Given the description of an element on the screen output the (x, y) to click on. 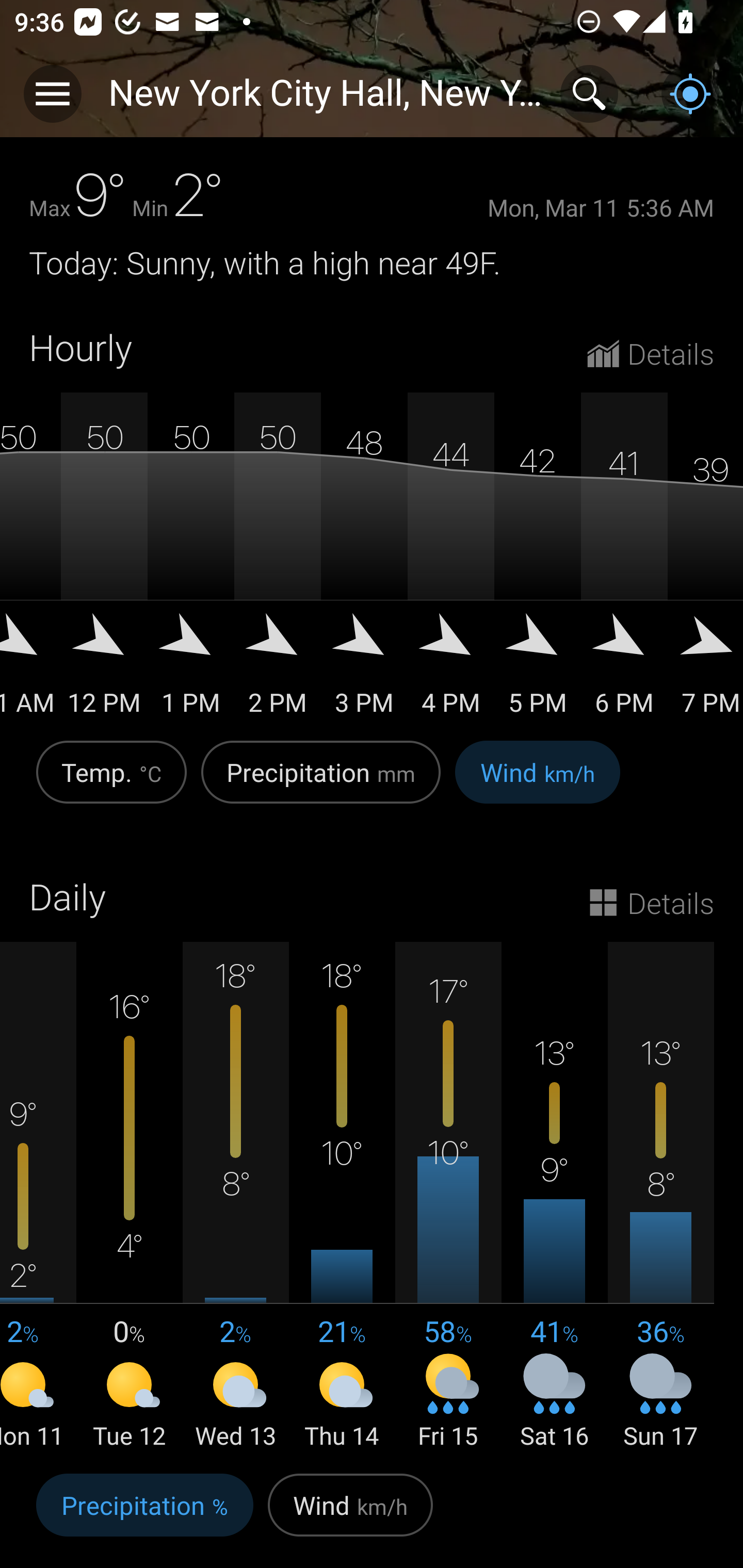
 11 AM (30, 670)
 12 PM (103, 670)
 1 PM (190, 670)
 2 PM (277, 670)
 3 PM (363, 670)
 4 PM (450, 670)
 5 PM (537, 670)
 6 PM (624, 670)
 7 PM (705, 670)
Temp. °C (110, 782)
Precipitation mm (320, 782)
Wind km/h (537, 782)
9° 2° 2 % Mon 11 (38, 1196)
16° 4° 0 % Tue 12 (129, 1196)
18° 8° 2 % Wed 13 (235, 1196)
18° 10° 21 % Thu 14 (342, 1196)
17° 10° 58 % Fri 15 (448, 1196)
13° 9° 41 % Sat 16 (554, 1196)
13° 8° 36 % Sun 17 (660, 1196)
Precipitation % (144, 1515)
Wind km/h (349, 1515)
